Given the description of an element on the screen output the (x, y) to click on. 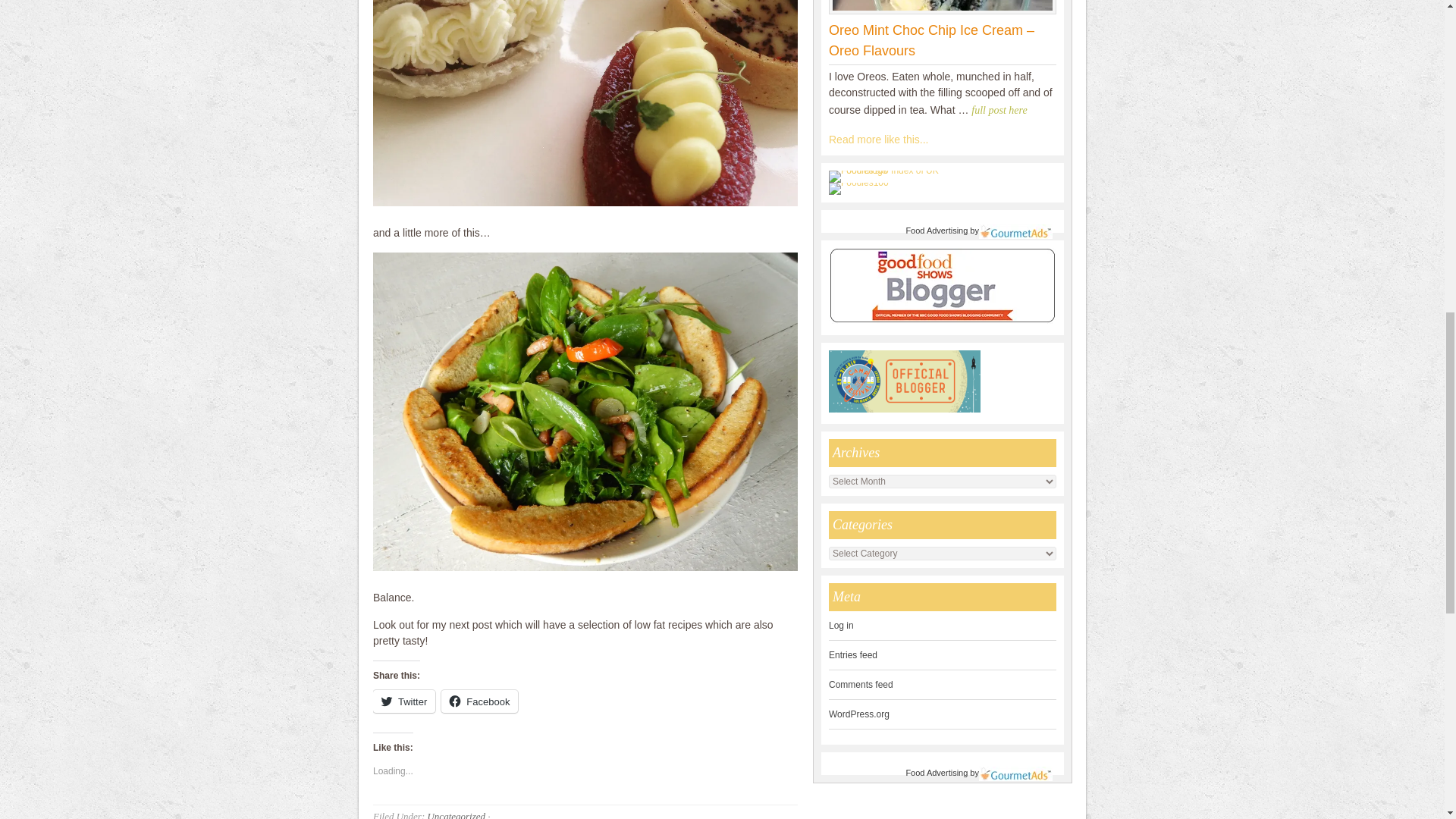
Read more like this... (878, 139)
Recipe Development (878, 139)
Click to share on Facebook (479, 701)
Facebook (479, 701)
Click to share on Twitter (403, 701)
Foodies100 Index of UK Food Blogs (890, 176)
Uncategorized (455, 814)
Foodies100 (858, 182)
Food Advertising (936, 772)
Twitter (403, 701)
